Given the description of an element on the screen output the (x, y) to click on. 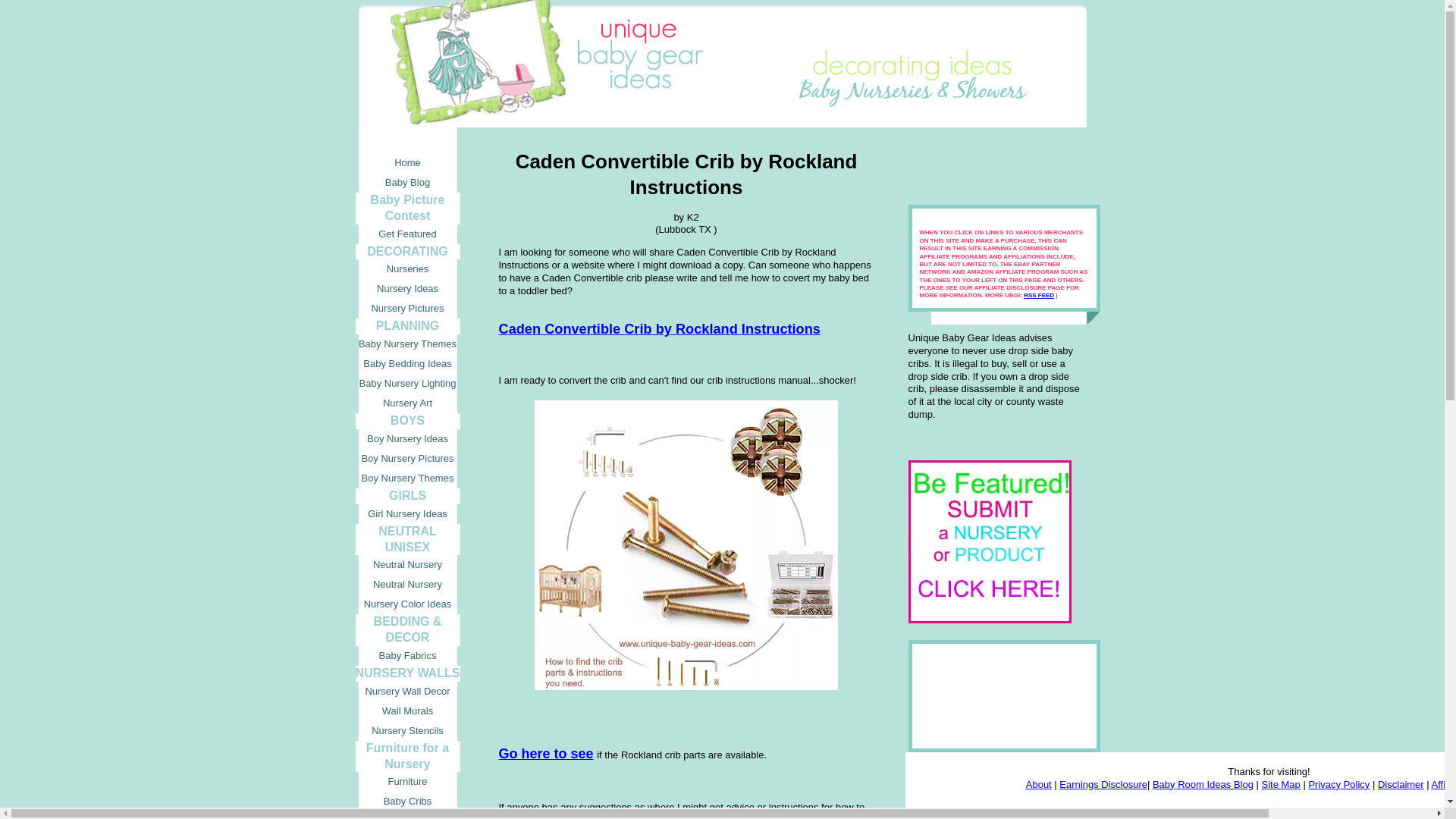
Neutral Nursery Themes (407, 564)
Nursery Pictures (407, 308)
Nursery Wall Decor (407, 691)
Baby Bedding Ideas (407, 363)
Wall Murals (407, 711)
Nursery Color Ideas (407, 604)
Get Featured (407, 234)
Furniture (407, 781)
Baby Cribs (407, 801)
Baby Nursery Lighting (407, 383)
Nursery Stencils (407, 731)
Neutral Nursery Pictures (407, 584)
Nursery Ideas (407, 288)
Boy Nursery Ideas (407, 438)
Baby Fabrics (407, 655)
